Given the description of an element on the screen output the (x, y) to click on. 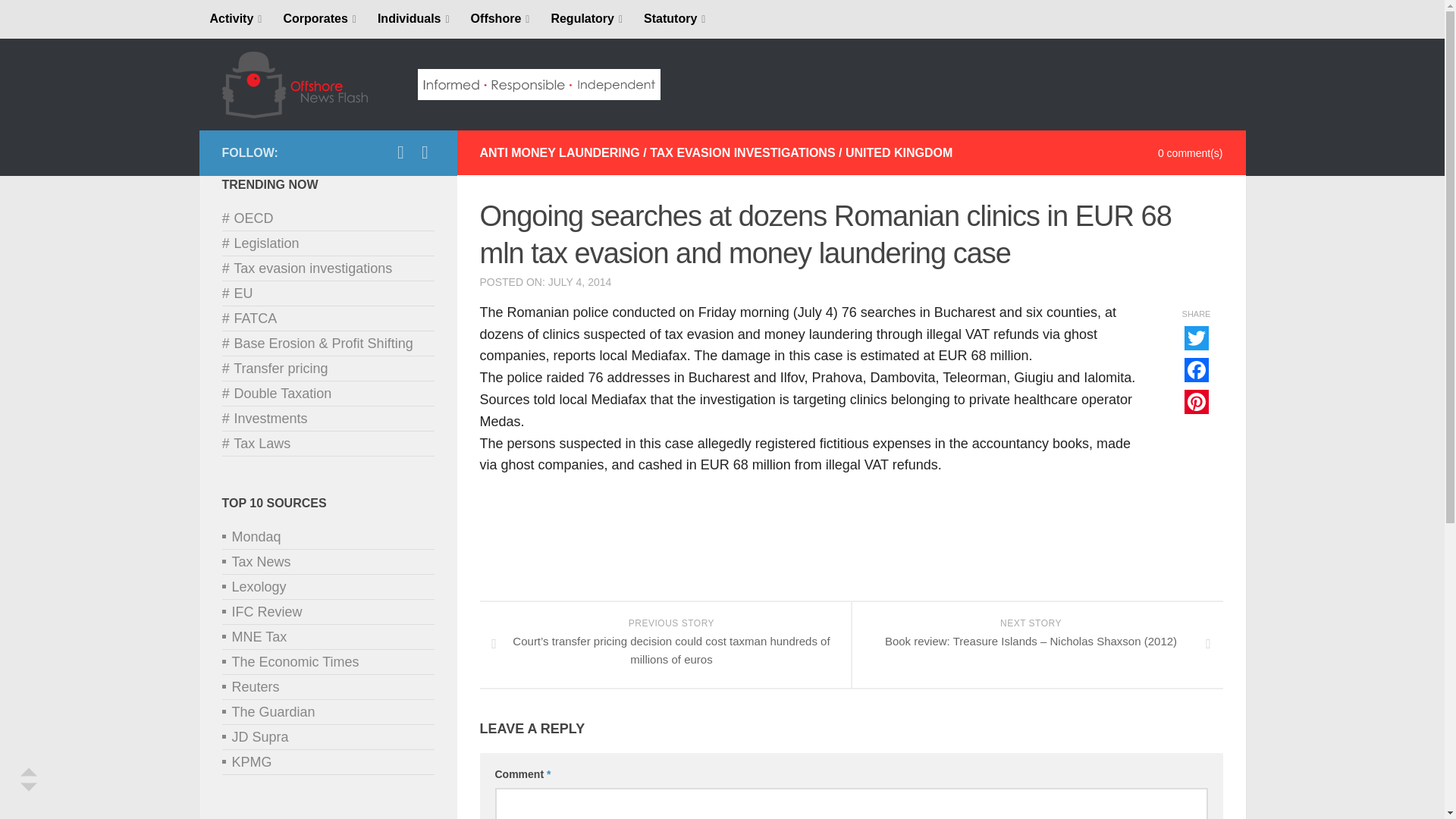
Corporates (319, 19)
Activity (235, 19)
Facebook (400, 152)
Twitter (423, 152)
